Given the description of an element on the screen output the (x, y) to click on. 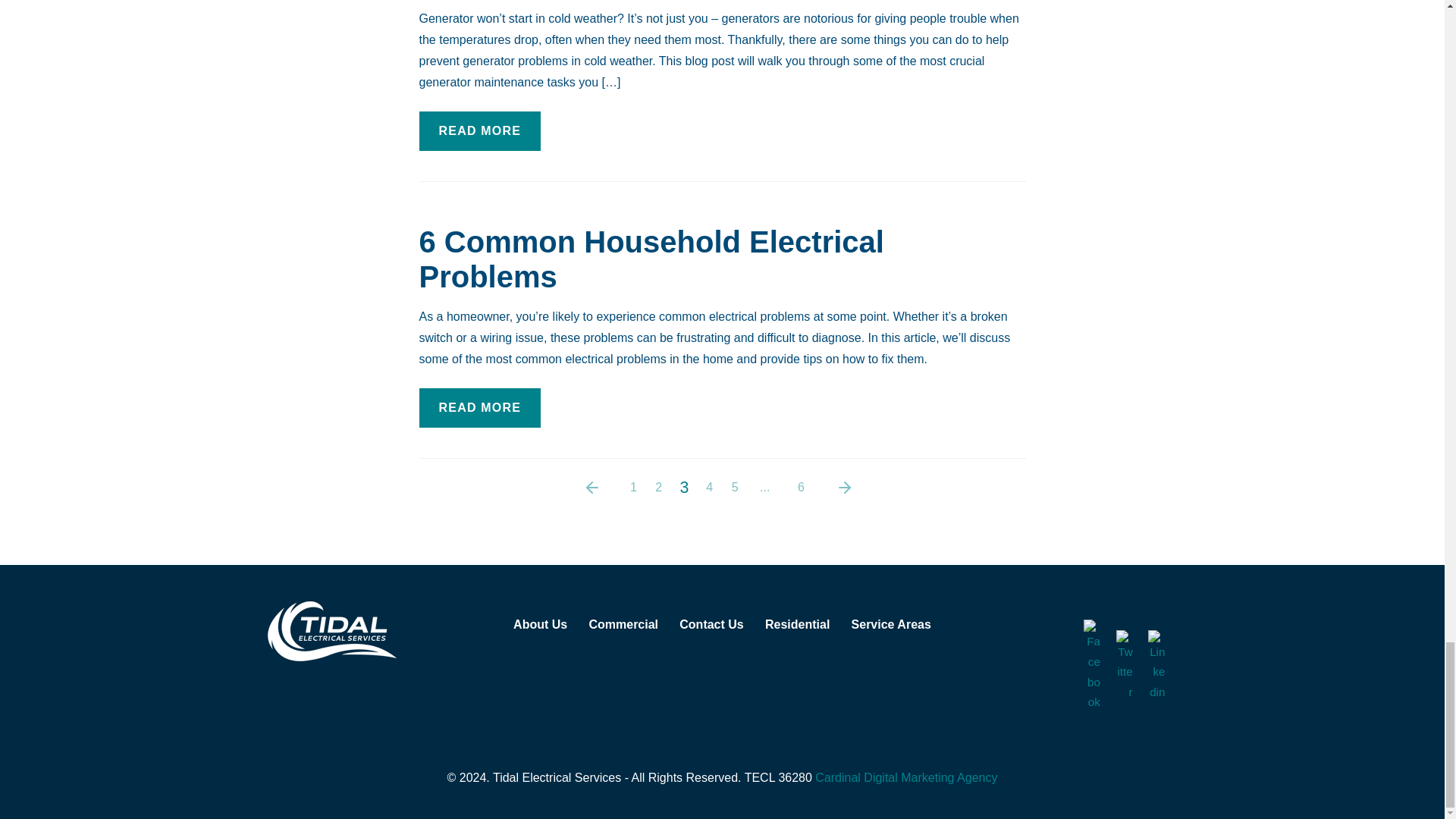
Twitter (1124, 665)
Tidal Electrical Services (331, 630)
Facebook (1091, 665)
Linkedin (1156, 665)
